Given the description of an element on the screen output the (x, y) to click on. 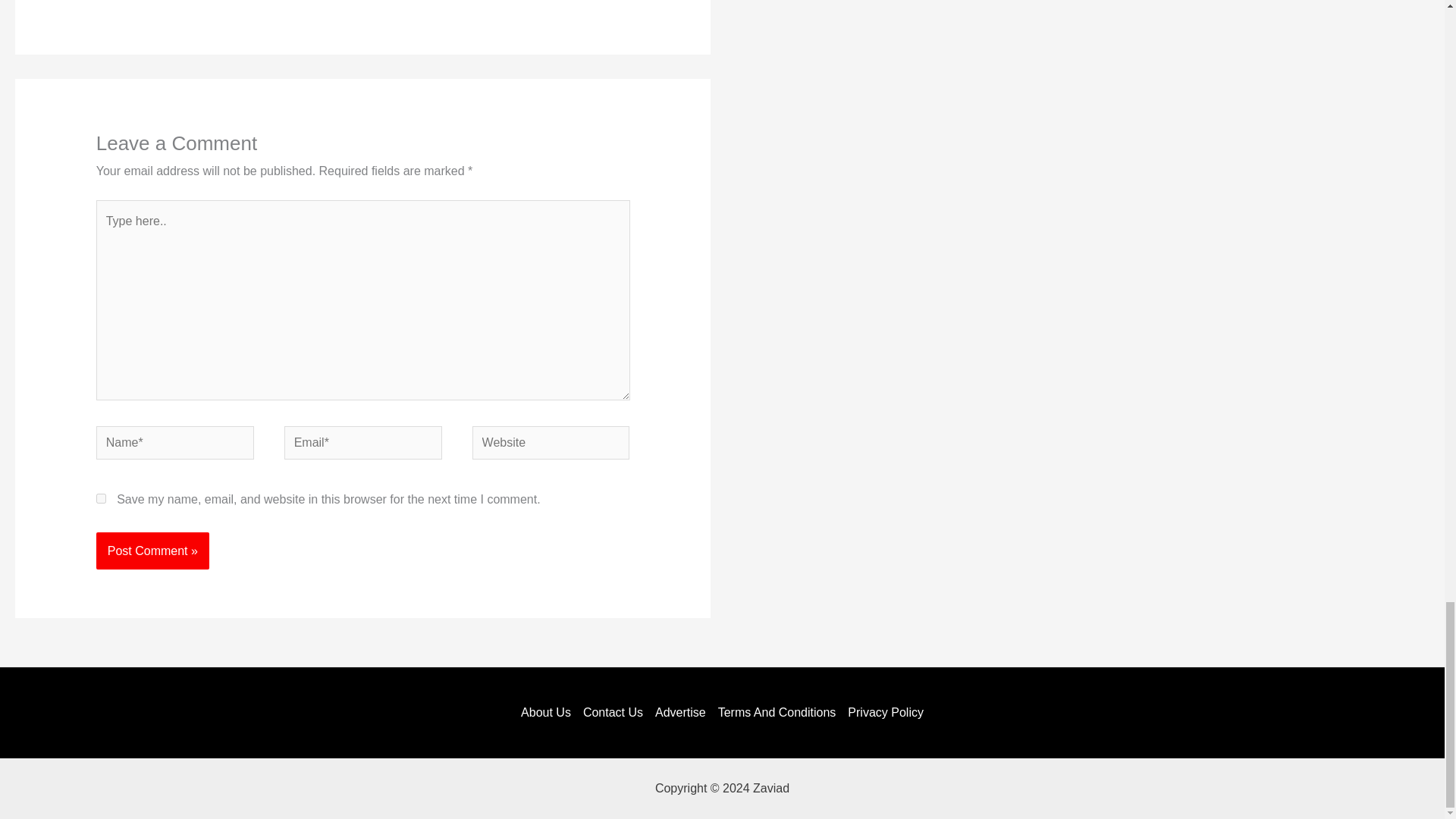
yes (101, 498)
